Given the description of an element on the screen output the (x, y) to click on. 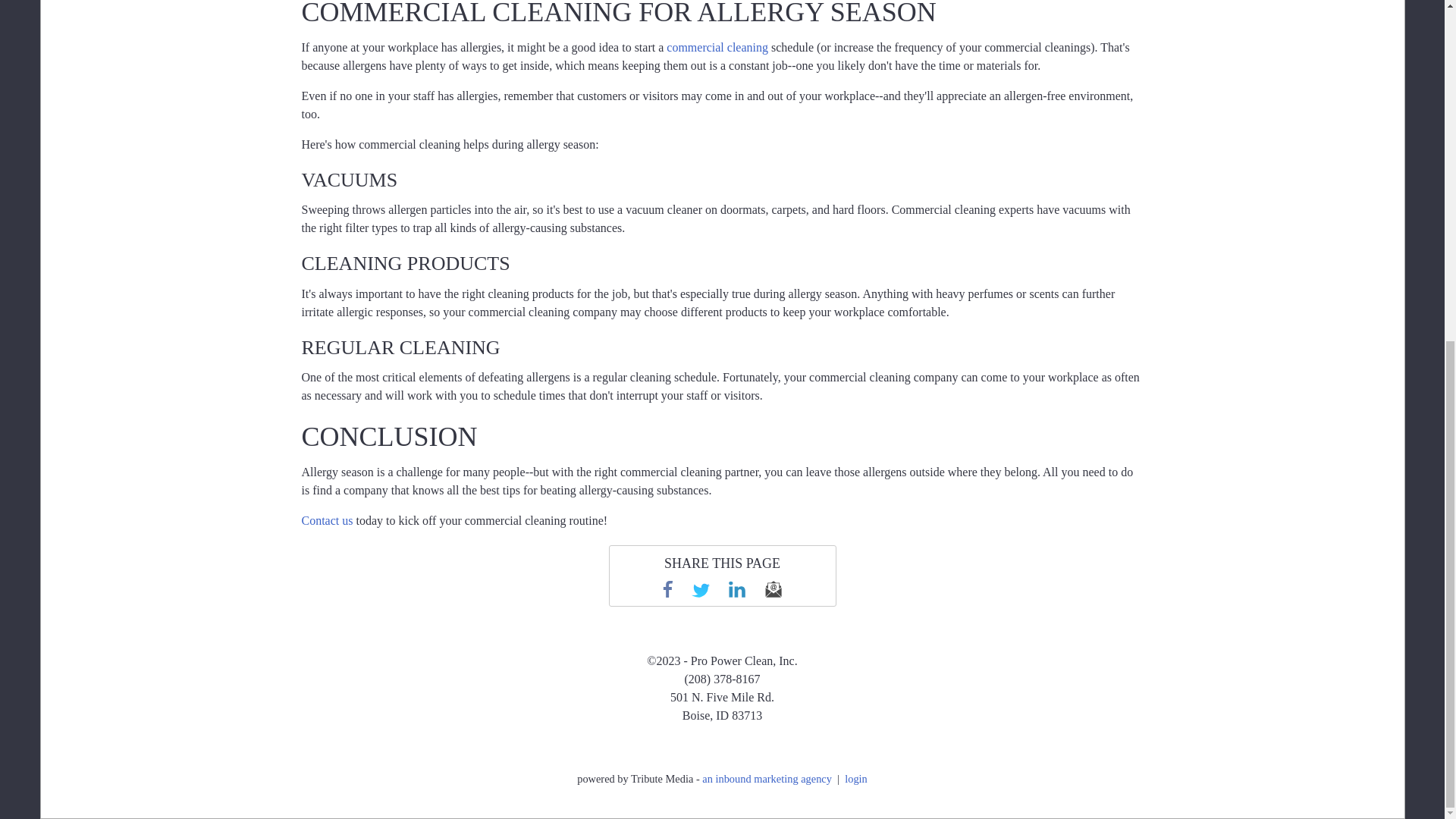
an inbound marketing agency (766, 778)
email (773, 588)
linkedin (736, 588)
Facebook (667, 588)
commercial cleaning (717, 47)
Contact us (327, 520)
Twitter (700, 588)
login (855, 778)
